Given the description of an element on the screen output the (x, y) to click on. 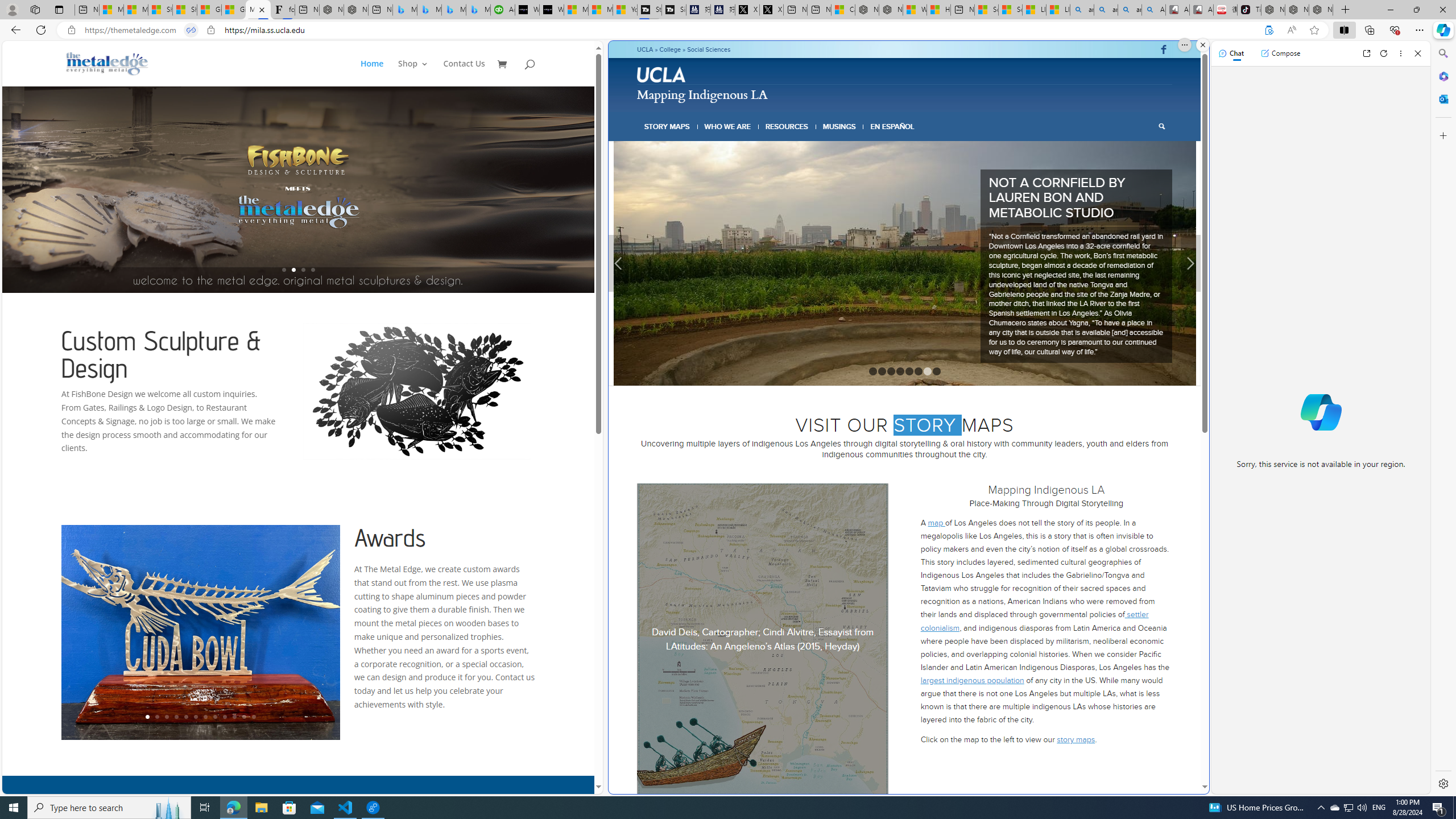
Streaming Coverage | T3 (648, 9)
Metal Fish Sculptures & Metal Designs (106, 63)
More options. (1183, 45)
Chat (1231, 52)
Contact Us (463, 72)
Maylei LAID 2 (938, 225)
RESOURCES (786, 126)
Side bar (1443, 418)
Huge shark washes ashore at New York City beach | Watch (938, 9)
